Given the description of an element on the screen output the (x, y) to click on. 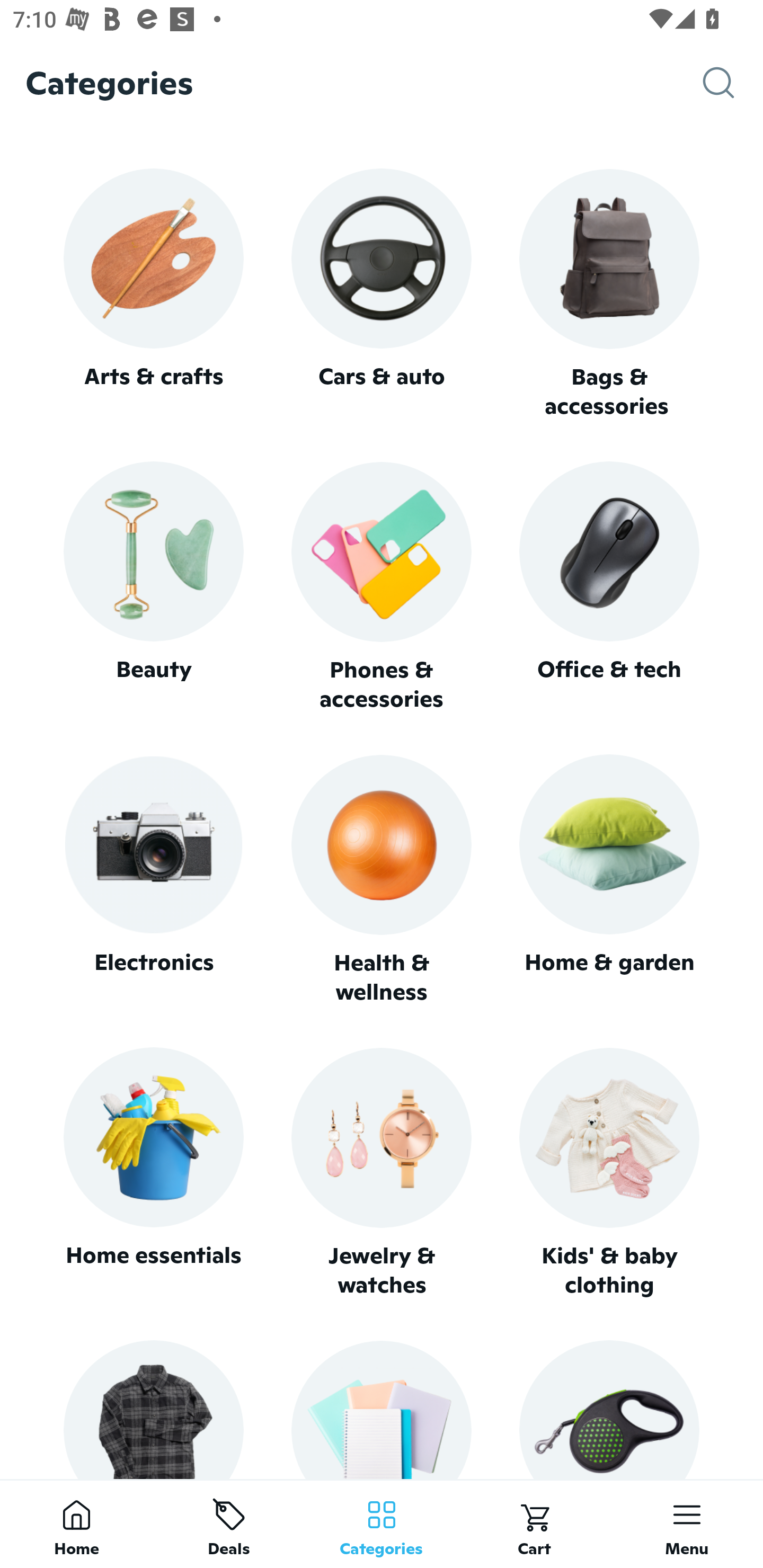
Search (732, 82)
Arts & crafts (153, 293)
Cars & auto (381, 293)
Bags & accessories  (609, 294)
Beauty (153, 586)
Office & tech (609, 586)
Phones & accessories (381, 587)
Electronics (153, 880)
Home & garden (609, 880)
Health & wellness (381, 880)
Home essentials (153, 1172)
Jewelry & watches (381, 1172)
Kids' & baby clothing (609, 1172)
Men's clothing (153, 1409)
Pet supplies (609, 1409)
Office & school supplies (381, 1409)
Home (76, 1523)
Deals (228, 1523)
Categories (381, 1523)
Cart (533, 1523)
Menu (686, 1523)
